Given the description of an element on the screen output the (x, y) to click on. 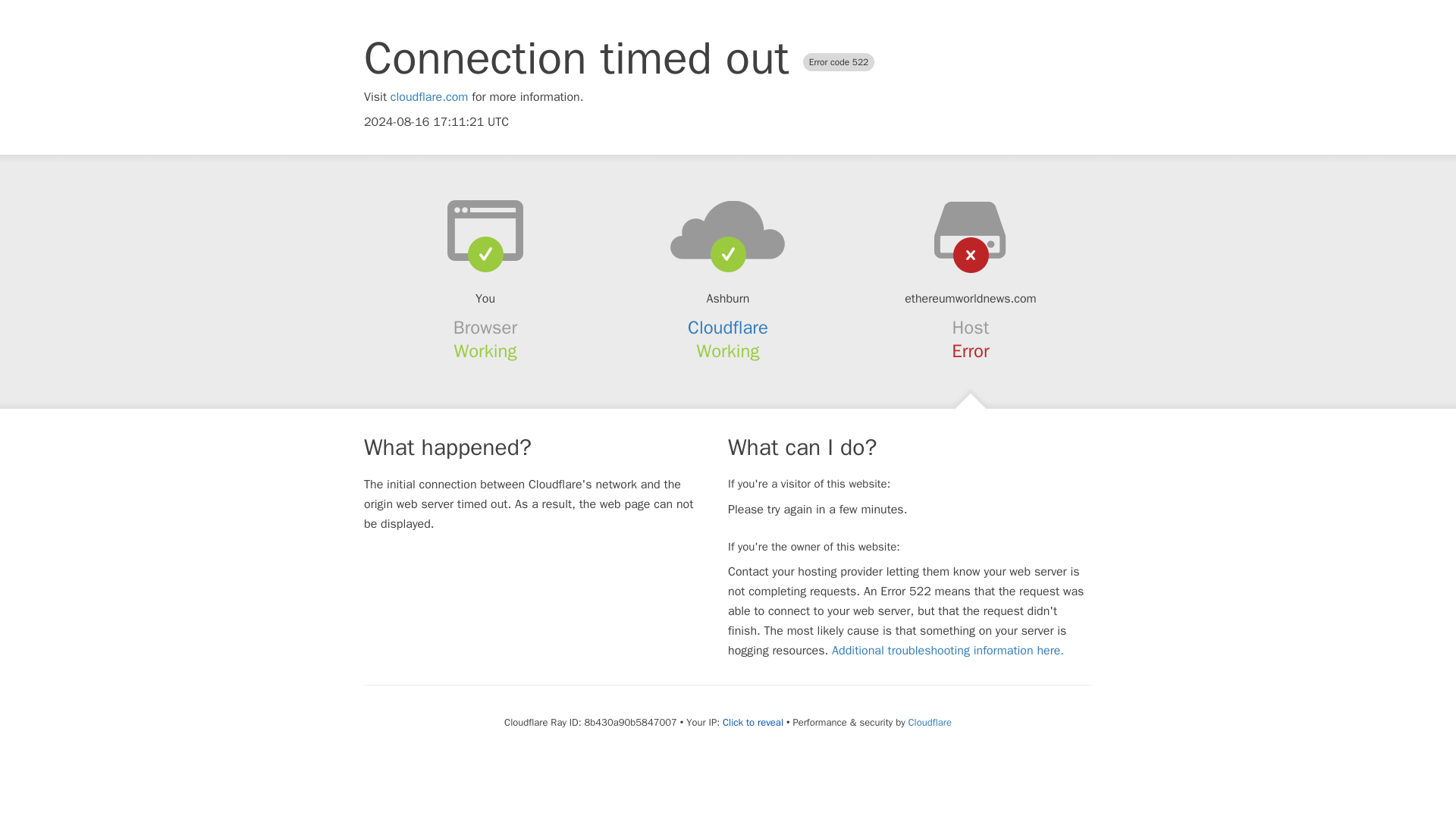
cloudflare.com (429, 96)
Cloudflare (727, 327)
Click to reveal (752, 722)
Cloudflare (930, 721)
Additional troubleshooting information here. (947, 650)
